Given the description of an element on the screen output the (x, y) to click on. 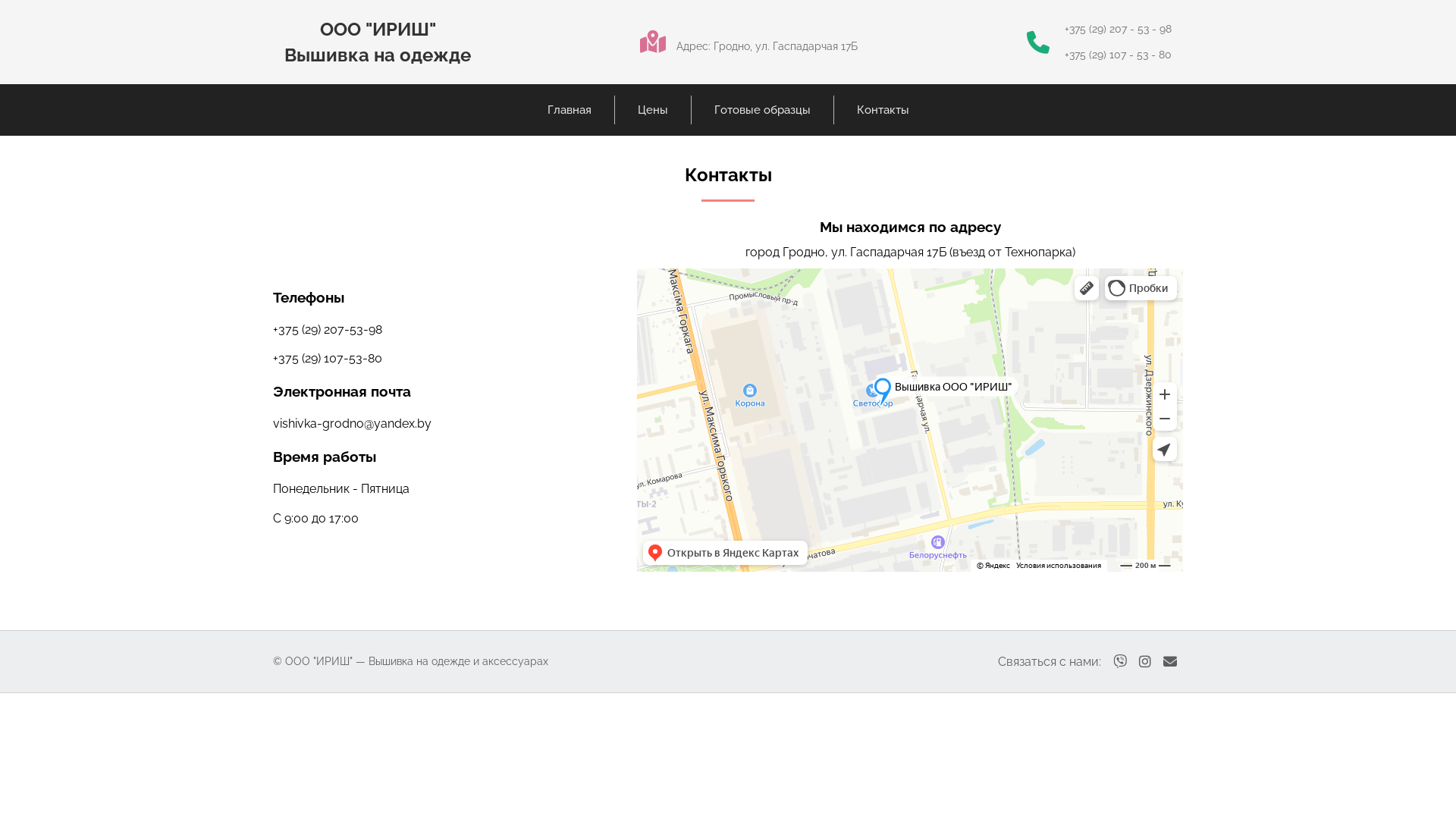
+375 (29) 107 - 53 - 80 Element type: text (1117, 54)
+375 (29) 207 - 53 - 98 Element type: text (1117, 28)
